Given the description of an element on the screen output the (x, y) to click on. 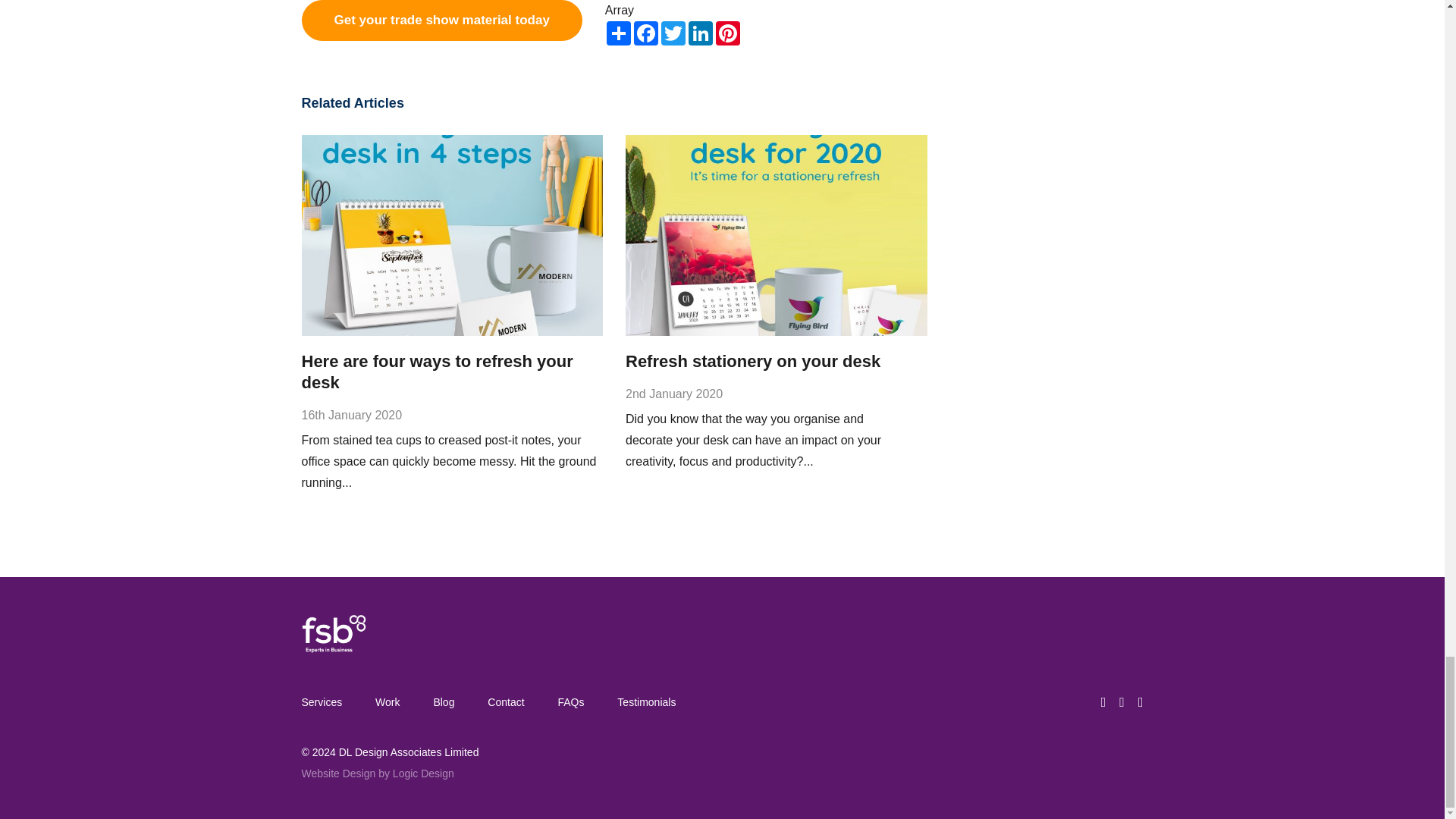
Refresh stationery on your desk (753, 361)
Work (386, 702)
Twitter (673, 33)
FAQs (569, 702)
Here are four ways to refresh your desk (437, 372)
Blog (442, 702)
Testimonials (646, 702)
Services (329, 702)
Get your trade show material today (441, 20)
LinkedIn (700, 33)
Facebook (645, 33)
Contact (504, 702)
Pinterest (727, 33)
